Given the description of an element on the screen output the (x, y) to click on. 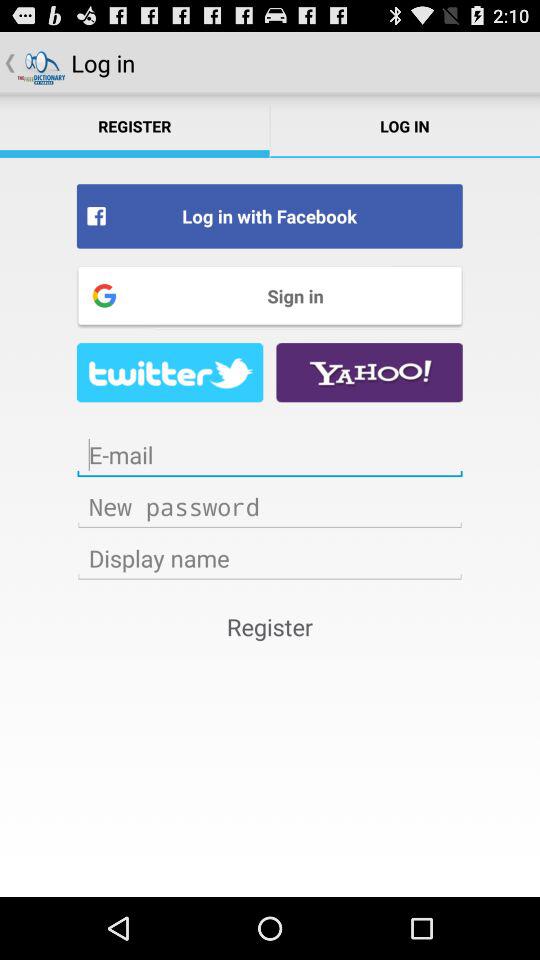
luckying page (169, 372)
